Given the description of an element on the screen output the (x, y) to click on. 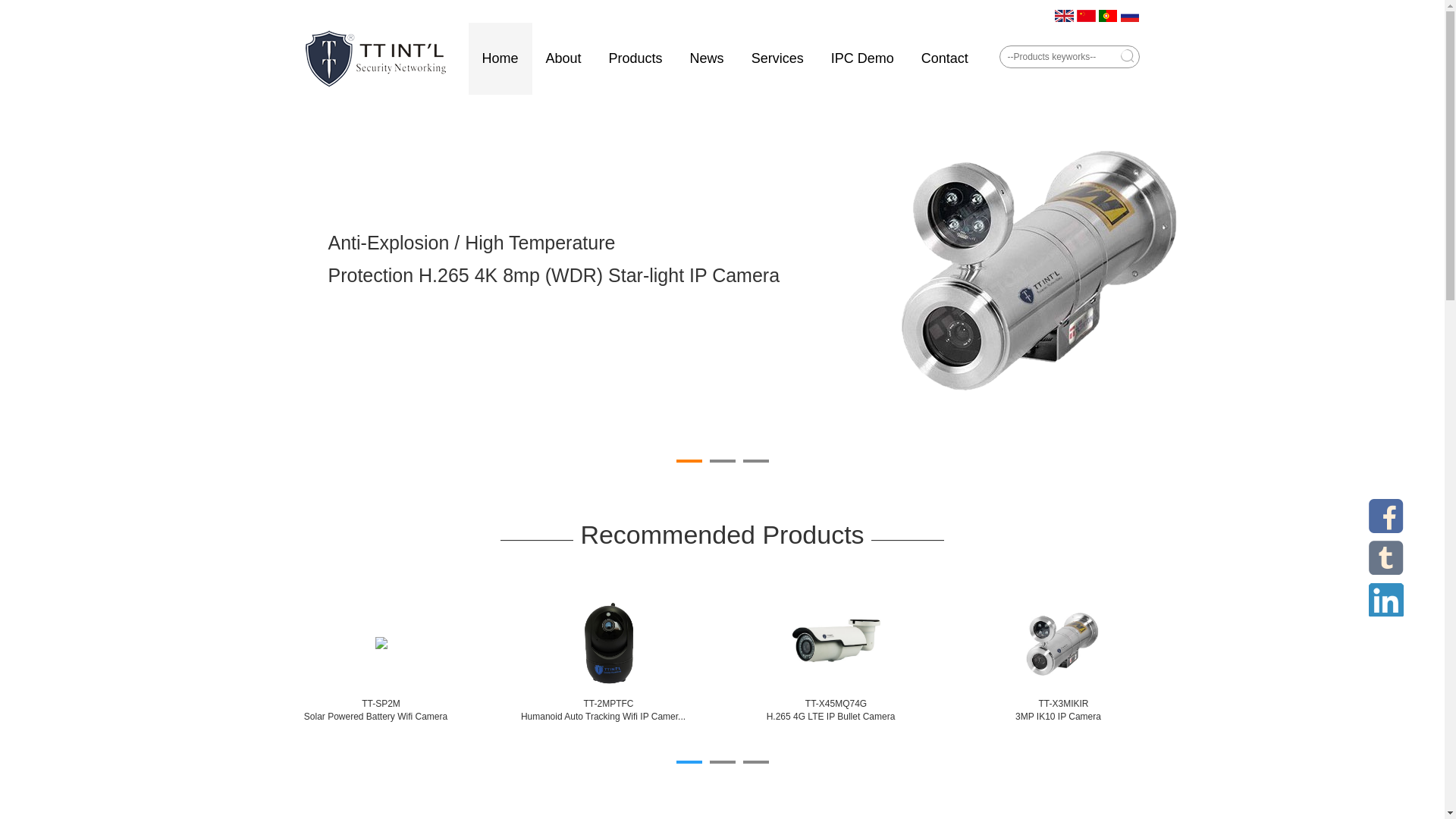
3MP IK10 IP Camera Element type: text (1058, 716)
Products Element type: text (635, 58)
News Element type: text (706, 58)
About Element type: text (563, 58)
Humanoid Auto Tracking Wifi IP Camer... Element type: text (603, 716)
TT-X3MIKIR Element type: text (1063, 703)
Contact Element type: text (944, 58)
H.265 4G LTE IP Bullet Camera Element type: text (831, 716)
TT-SP2M Element type: text (381, 703)
Services Element type: text (777, 58)
TT-2MPTFC Element type: text (608, 703)
Solar Powered Battery Wifi Camera Element type: text (376, 716)
TT-X45MQ74G Element type: text (836, 703)
IPC Demo Element type: text (862, 58)
Home Element type: text (500, 58)
